Given the description of an element on the screen output the (x, y) to click on. 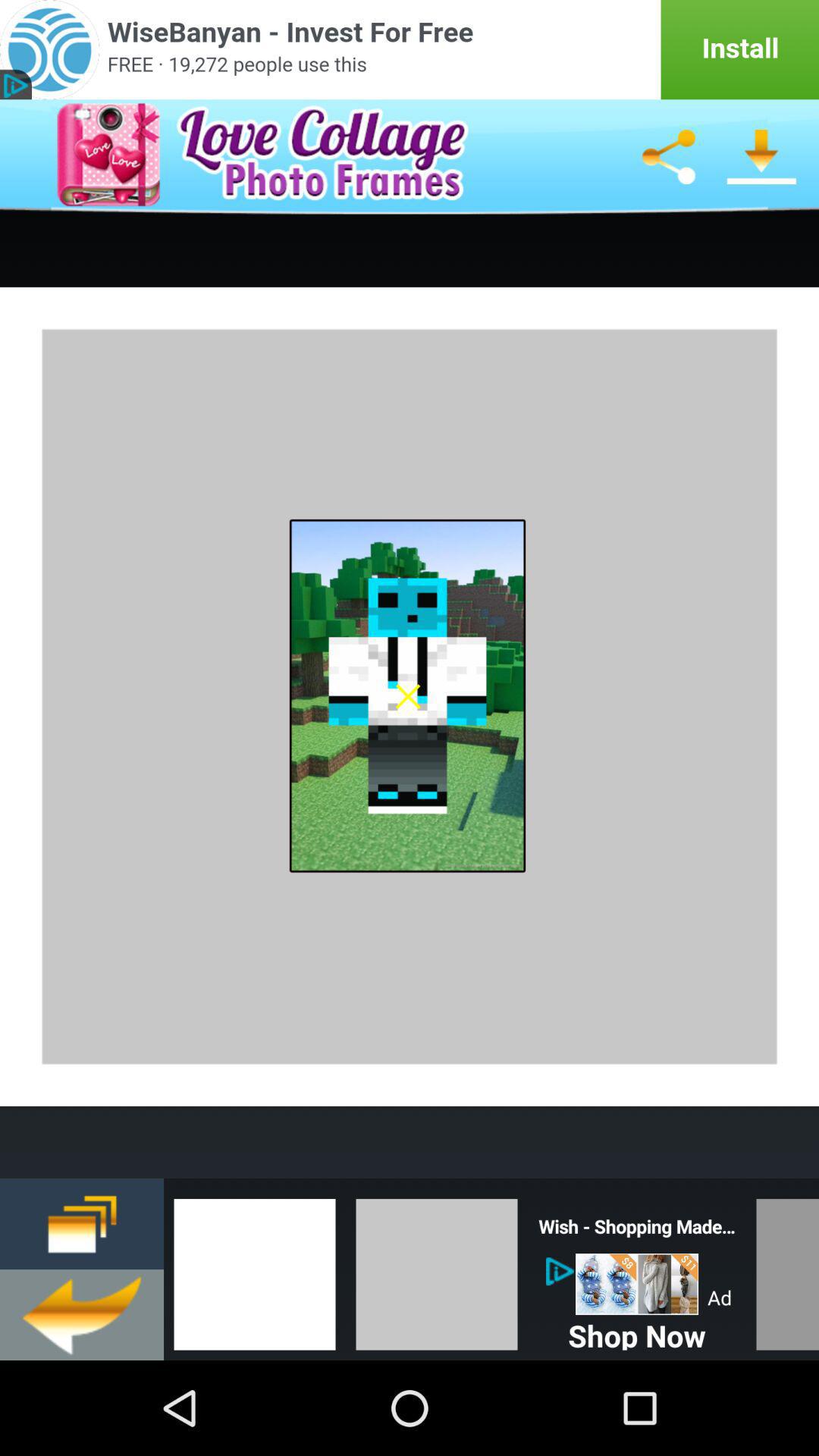
undo all (81, 1314)
